Given the description of an element on the screen output the (x, y) to click on. 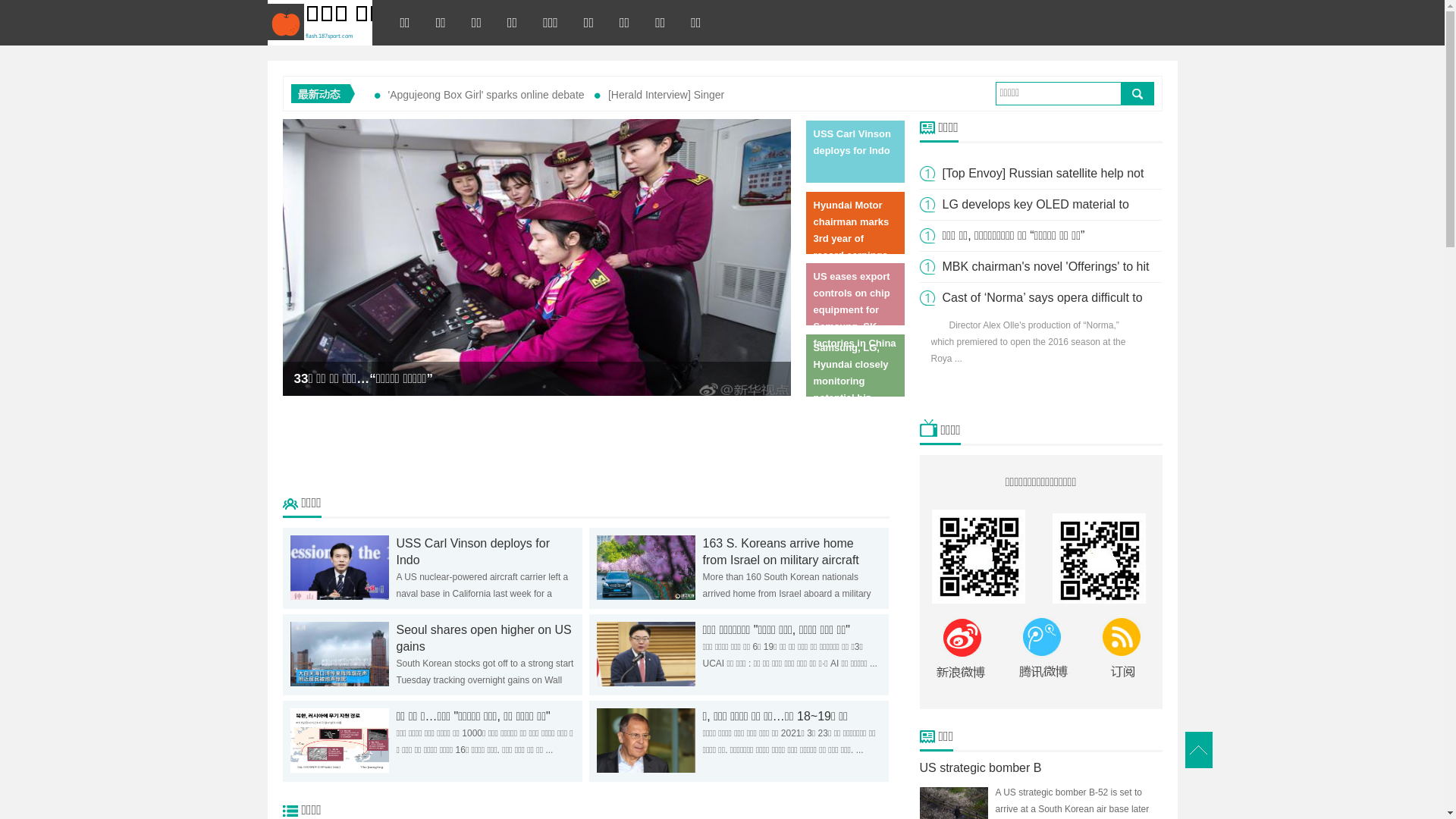
USS Carl Vinson deploys for Indo Element type: text (472, 551)
US strategic bomber B Element type: text (980, 767)
163 S. Koreans arrive home from Israel on military aircraft Element type: text (780, 551)
Seoul shares open higher on US gains Element type: text (483, 637)
LG develops key OLED material to reduce reliance on imports Element type: text (1034, 219)
